Given the description of an element on the screen output the (x, y) to click on. 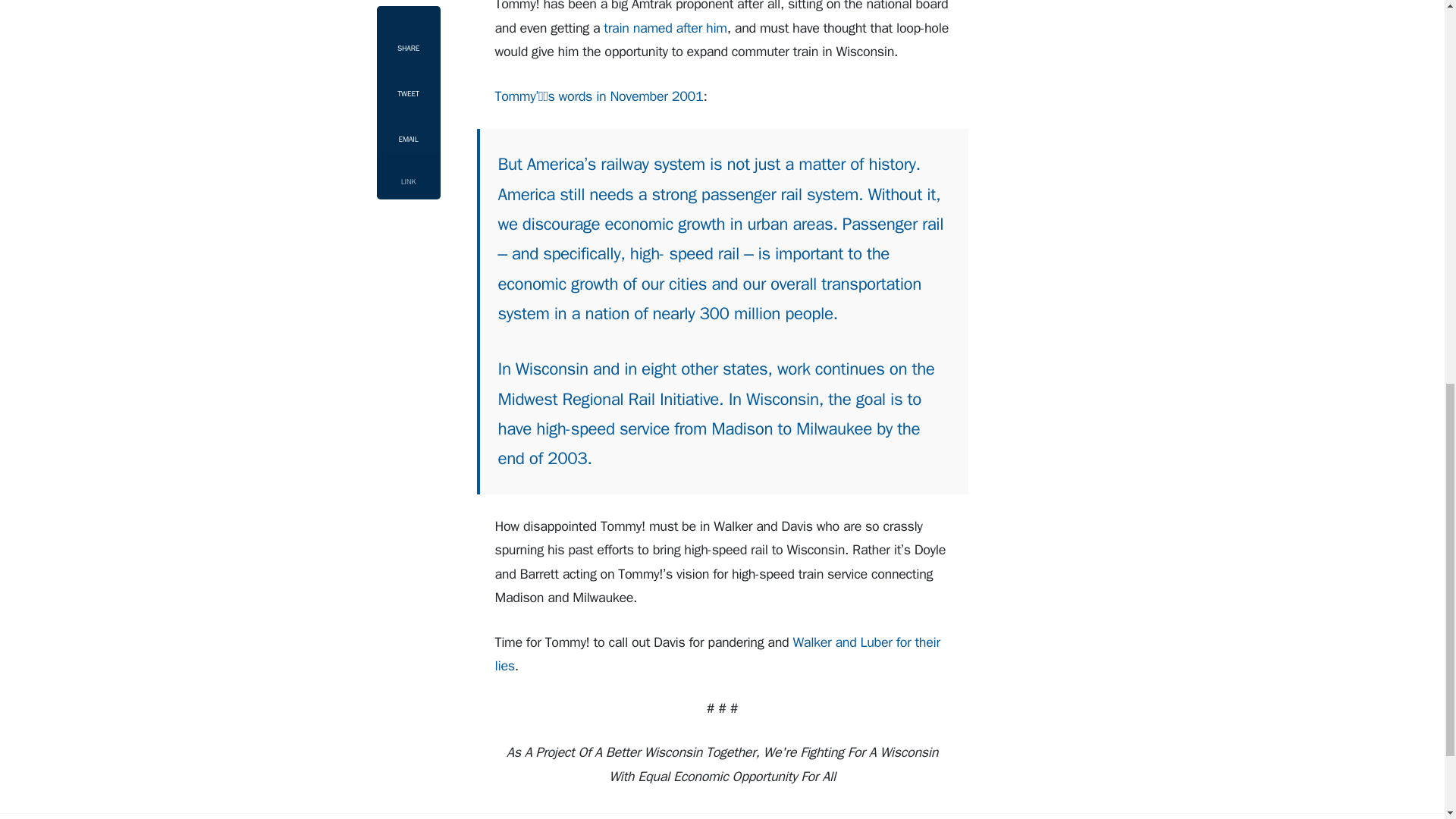
train named after him (665, 27)
Walker and Luber for their lies (717, 653)
